Given the description of an element on the screen output the (x, y) to click on. 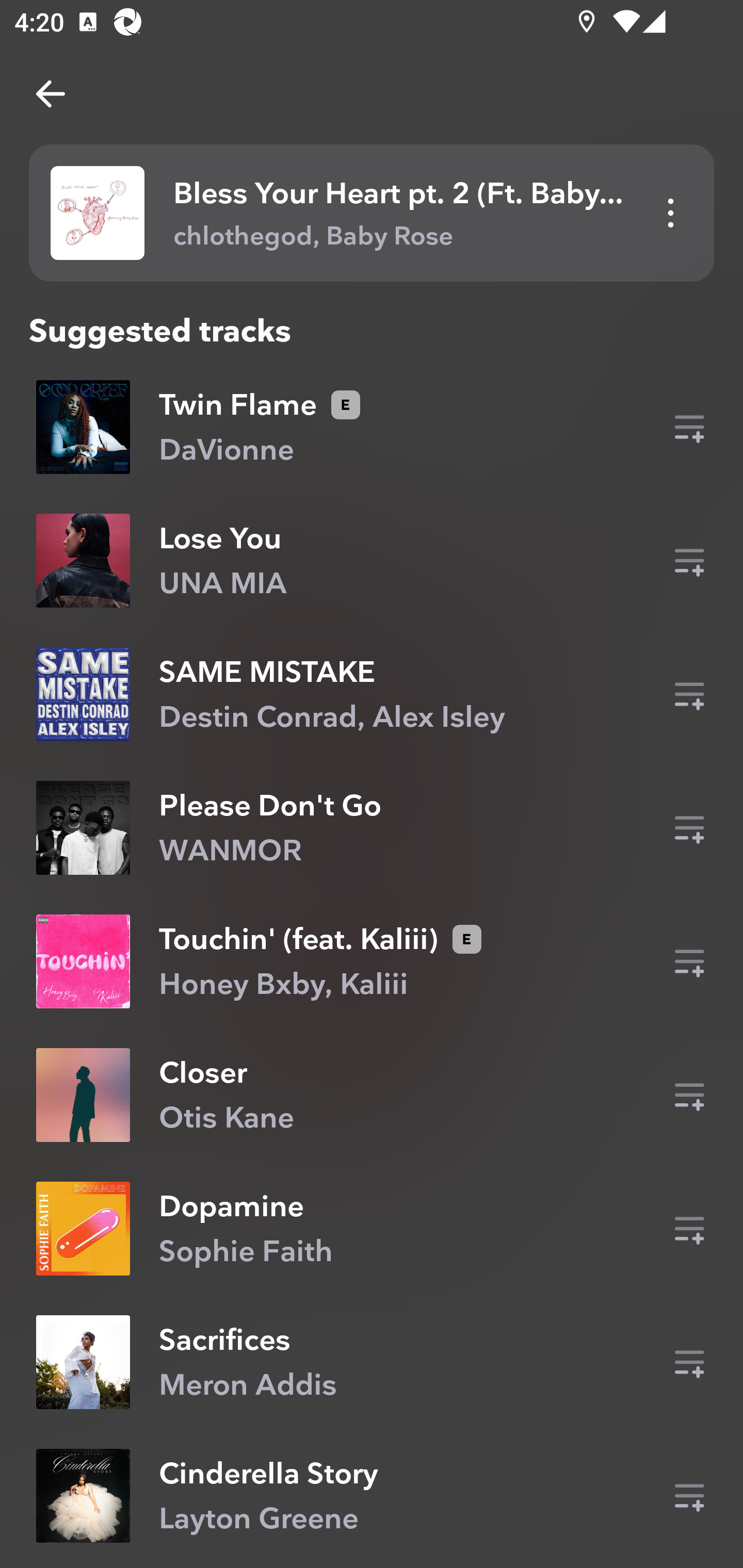
Twin Flame DaVionne (371, 431)
Lose You UNA MIA (371, 560)
SAME MISTAKE Destin Conrad, Alex Isley (371, 694)
Please Don't Go WANMOR (371, 827)
Touchin' (feat. Kaliii) Honey Bxby, Kaliii (371, 961)
Closer Otis Kane (371, 1095)
Dopamine Sophie Faith (371, 1228)
Sacrifices Meron Addis (371, 1362)
Cinderella Story Layton Greene (371, 1495)
